Given the description of an element on the screen output the (x, y) to click on. 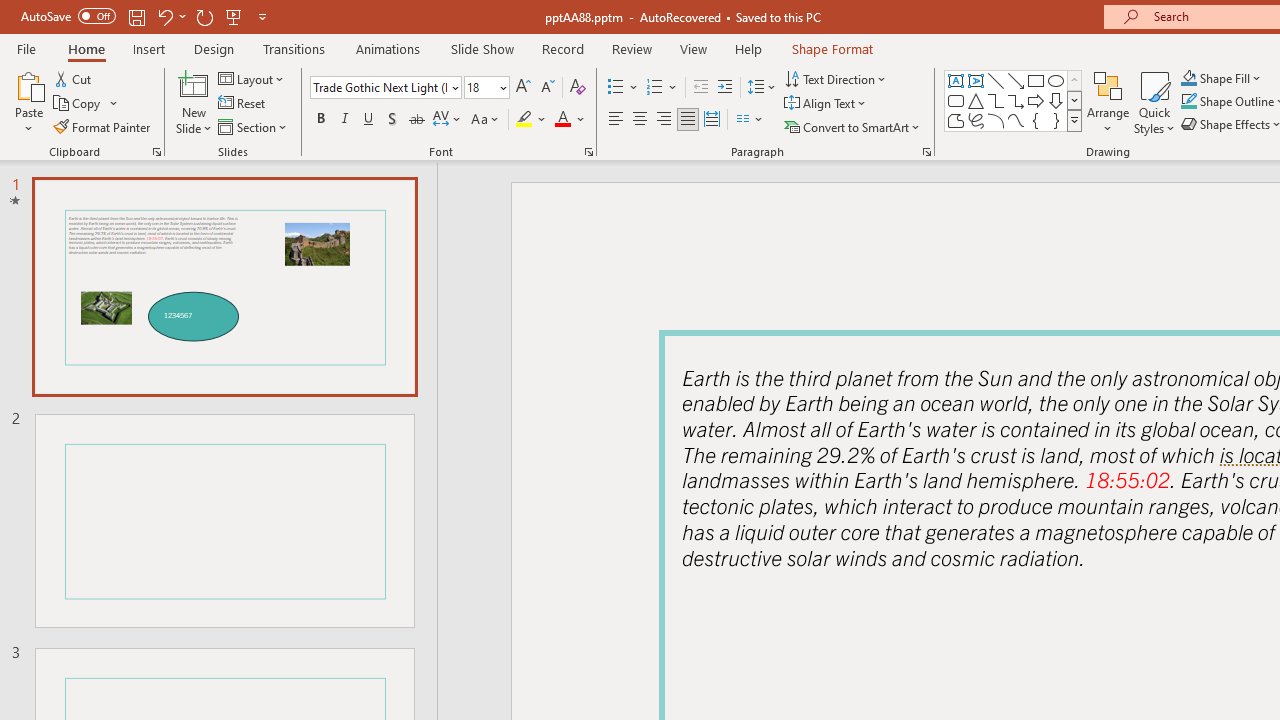
Shape Outline Teal, Accent 1 (1188, 101)
Shape Fill Aqua, Accent 2 (1188, 78)
